Given the description of an element on the screen output the (x, y) to click on. 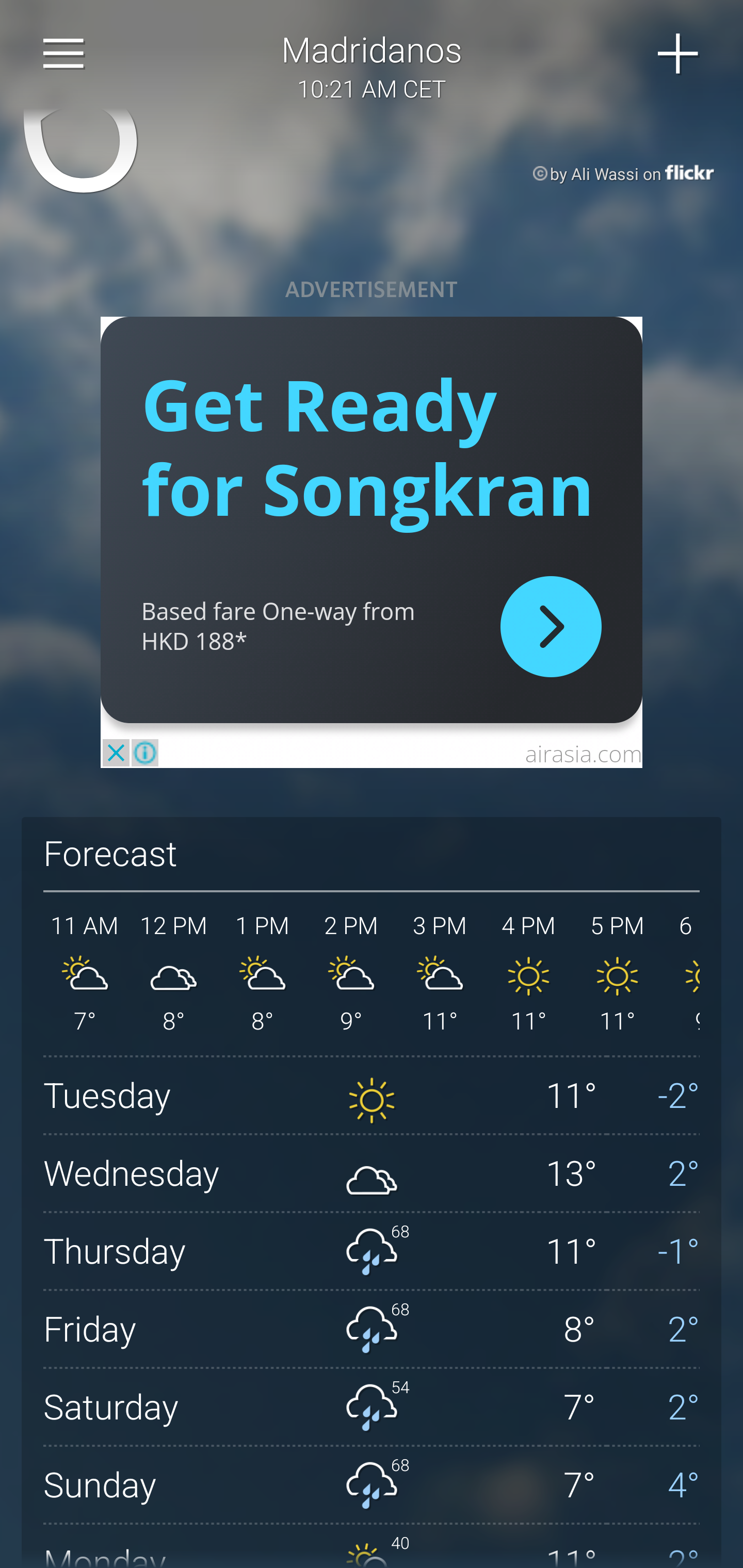
Sidebar (64, 54)
Add City (678, 53)
Get Ready for Songkran Get Ready 
 for Songkran (367, 445)
airasia.com (582, 753)
